Given the description of an element on the screen output the (x, y) to click on. 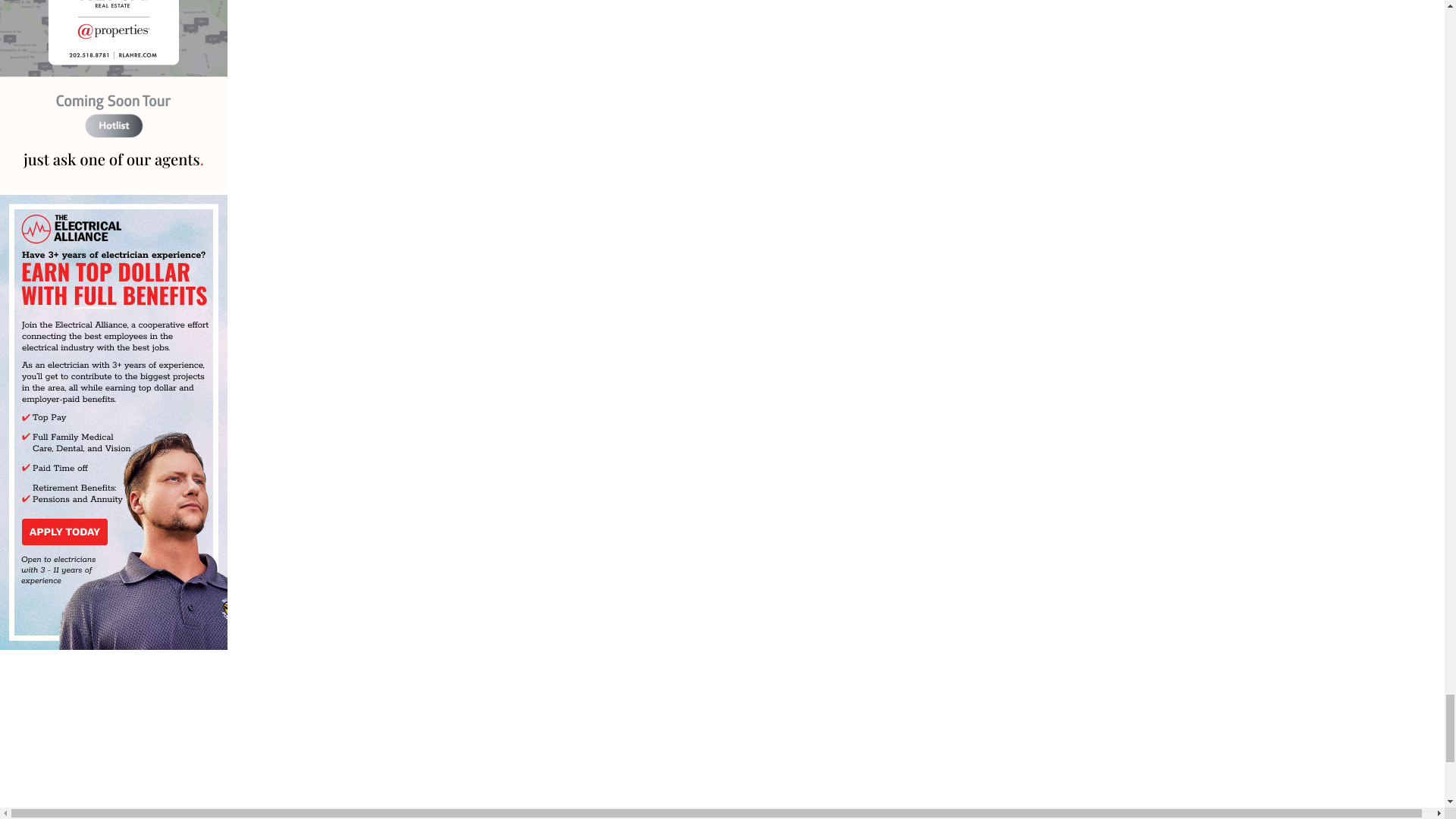
RLAH Coming Soon Tour (113, 97)
